Given the description of an element on the screen output the (x, y) to click on. 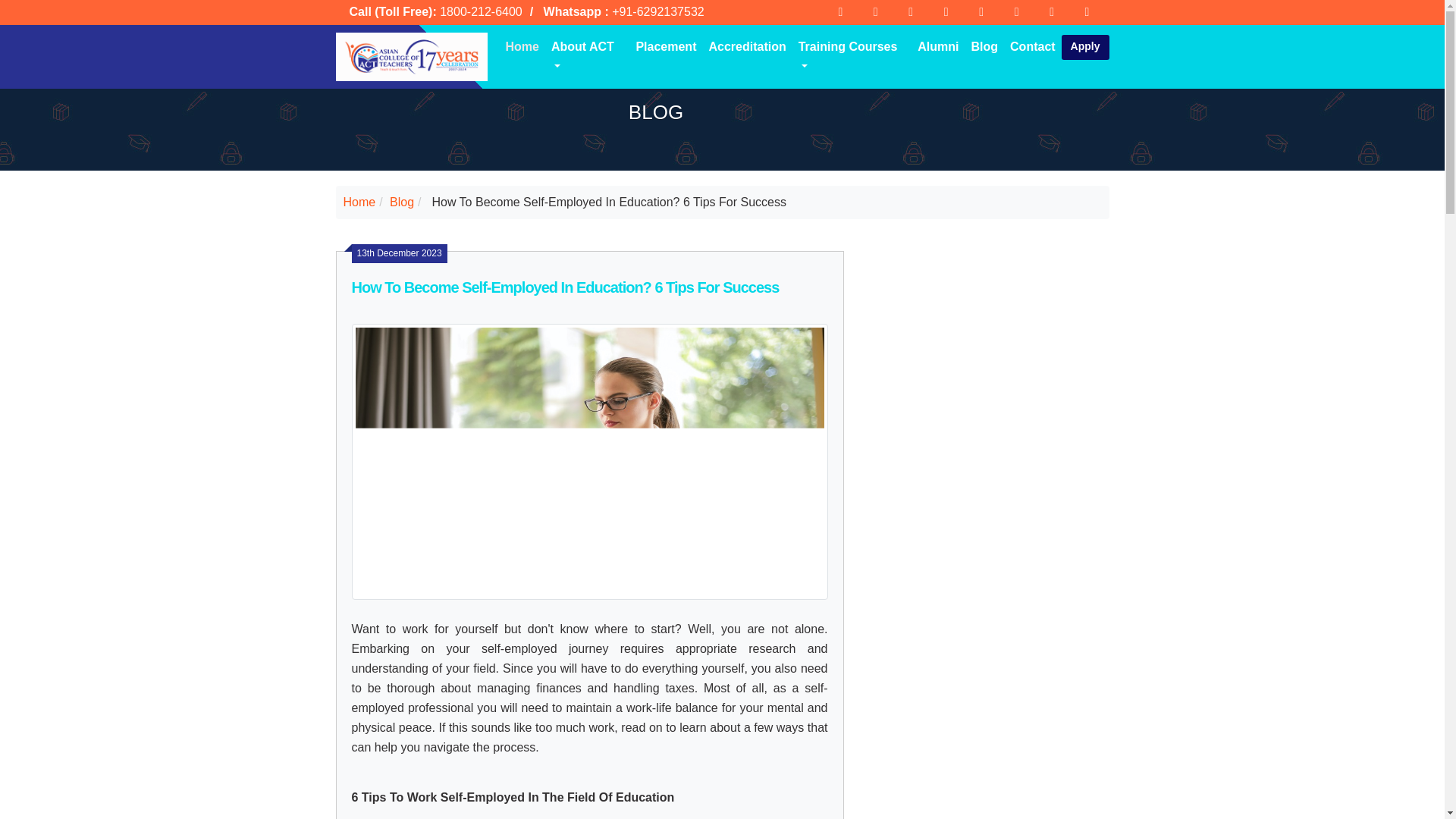
Accreditation (746, 47)
Alumni (937, 47)
Placement (664, 47)
Blog (983, 47)
Contact (1032, 47)
Apply (1085, 47)
About ACT (586, 56)
Training Courses (852, 56)
